Given the description of an element on the screen output the (x, y) to click on. 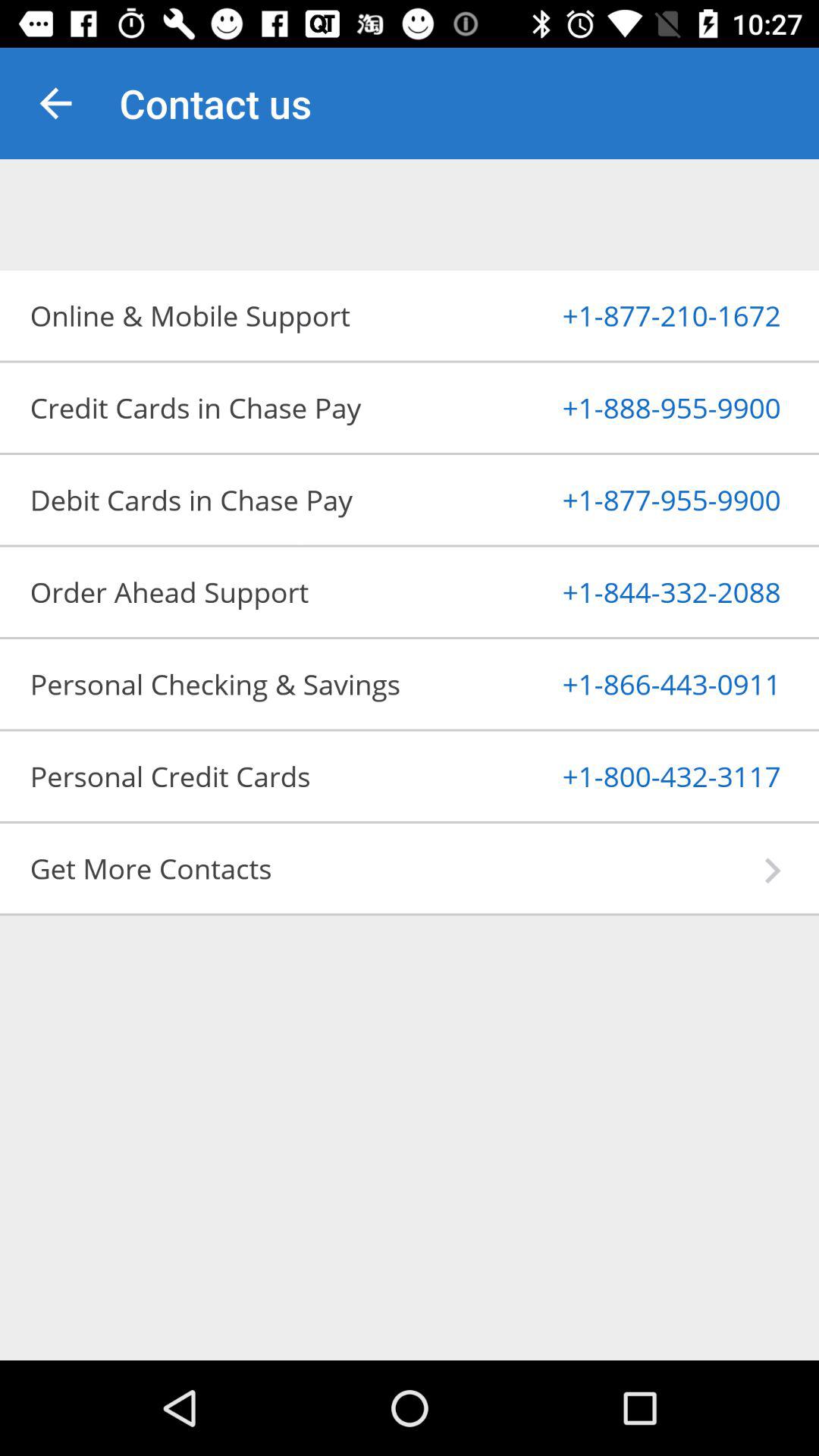
open the icon next to contact us app (55, 103)
